Given the description of an element on the screen output the (x, y) to click on. 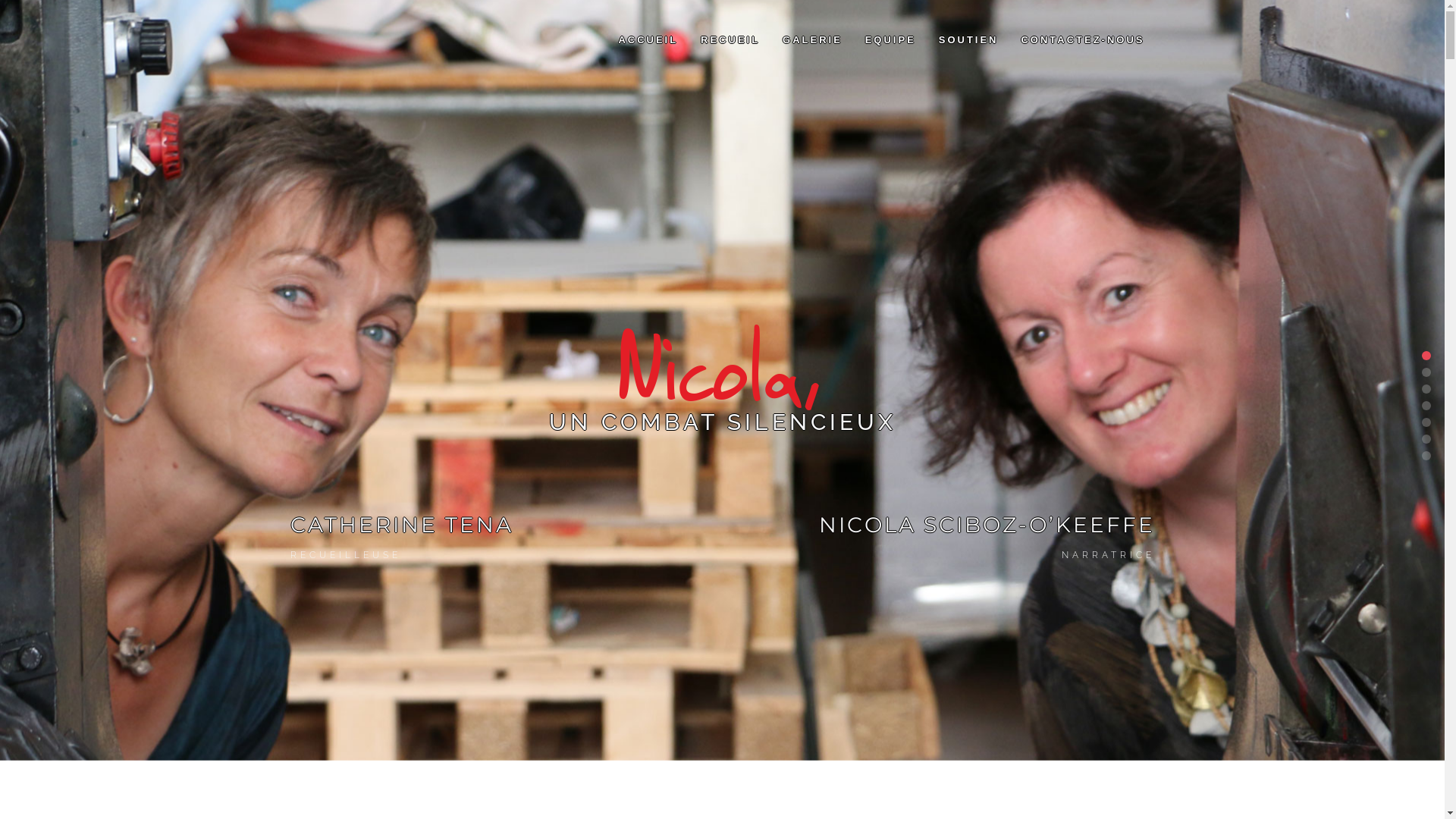
RECUEIL Element type: text (729, 40)
GALERIE Element type: text (812, 40)
ACCUEIL Element type: text (647, 40)
EQUIPE Element type: text (890, 40)
SOUTIEN Element type: text (968, 40)
CONTACTEZ-NOUS Element type: text (1082, 40)
